Given the description of an element on the screen output the (x, y) to click on. 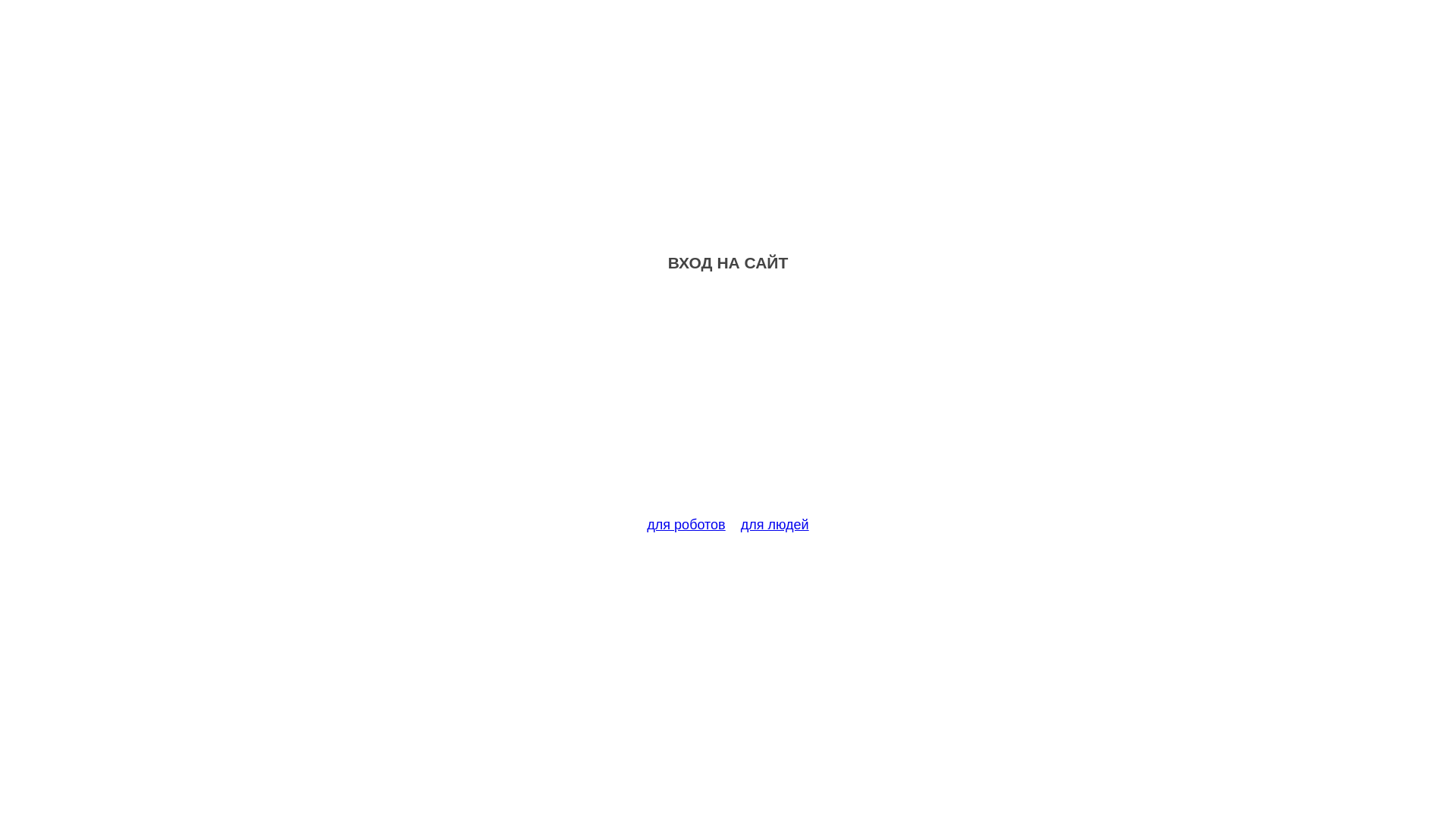
Advertisement Element type: hover (727, 403)
